Given the description of an element on the screen output the (x, y) to click on. 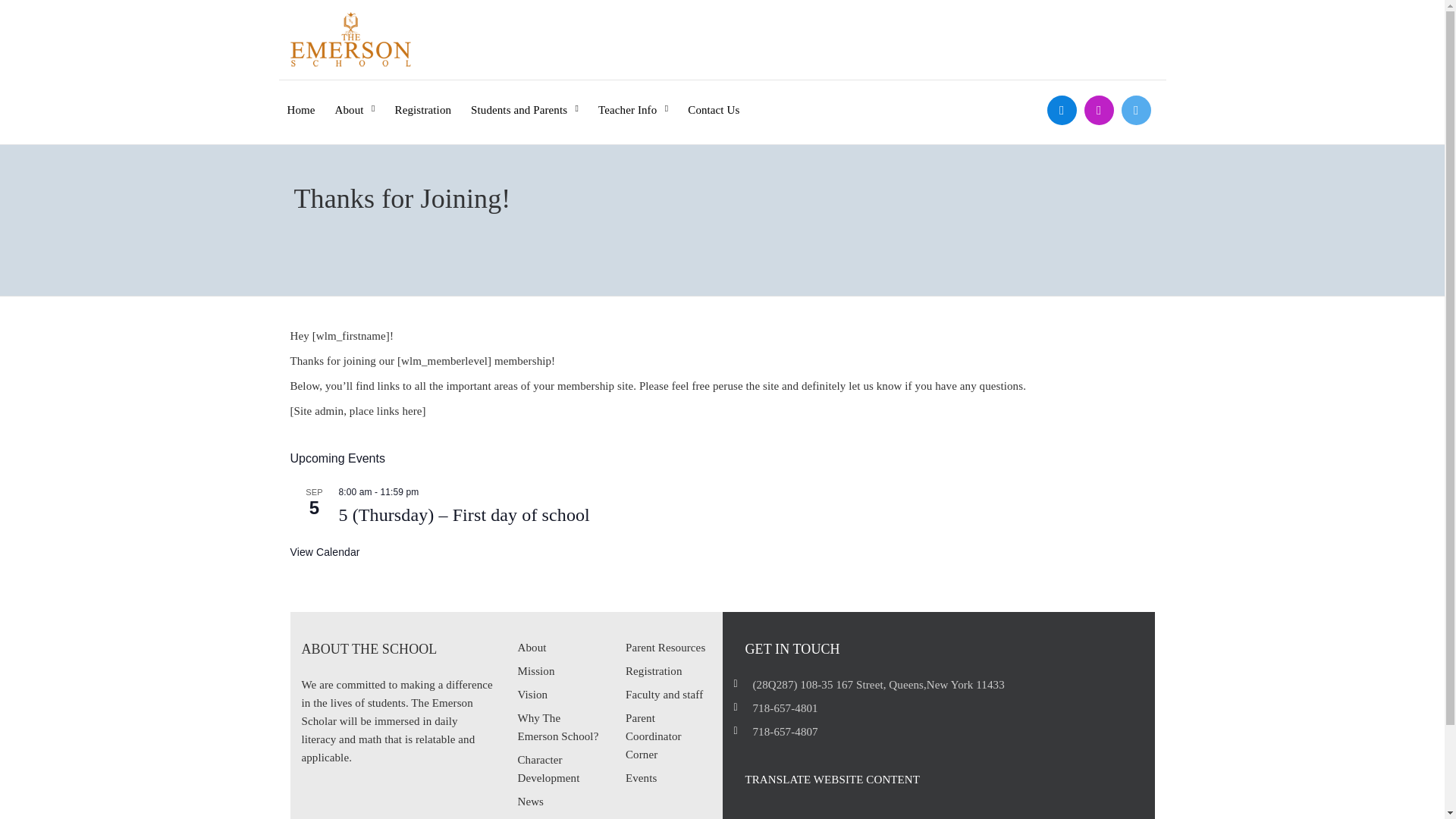
News (529, 801)
About (531, 647)
Registration (422, 99)
Contact Us (713, 99)
Mission (535, 671)
Why The Emerson School? (557, 726)
View Calendar (324, 552)
Character Development (547, 768)
Teacher Info (633, 99)
Faculty and staff (664, 694)
